Given the description of an element on the screen output the (x, y) to click on. 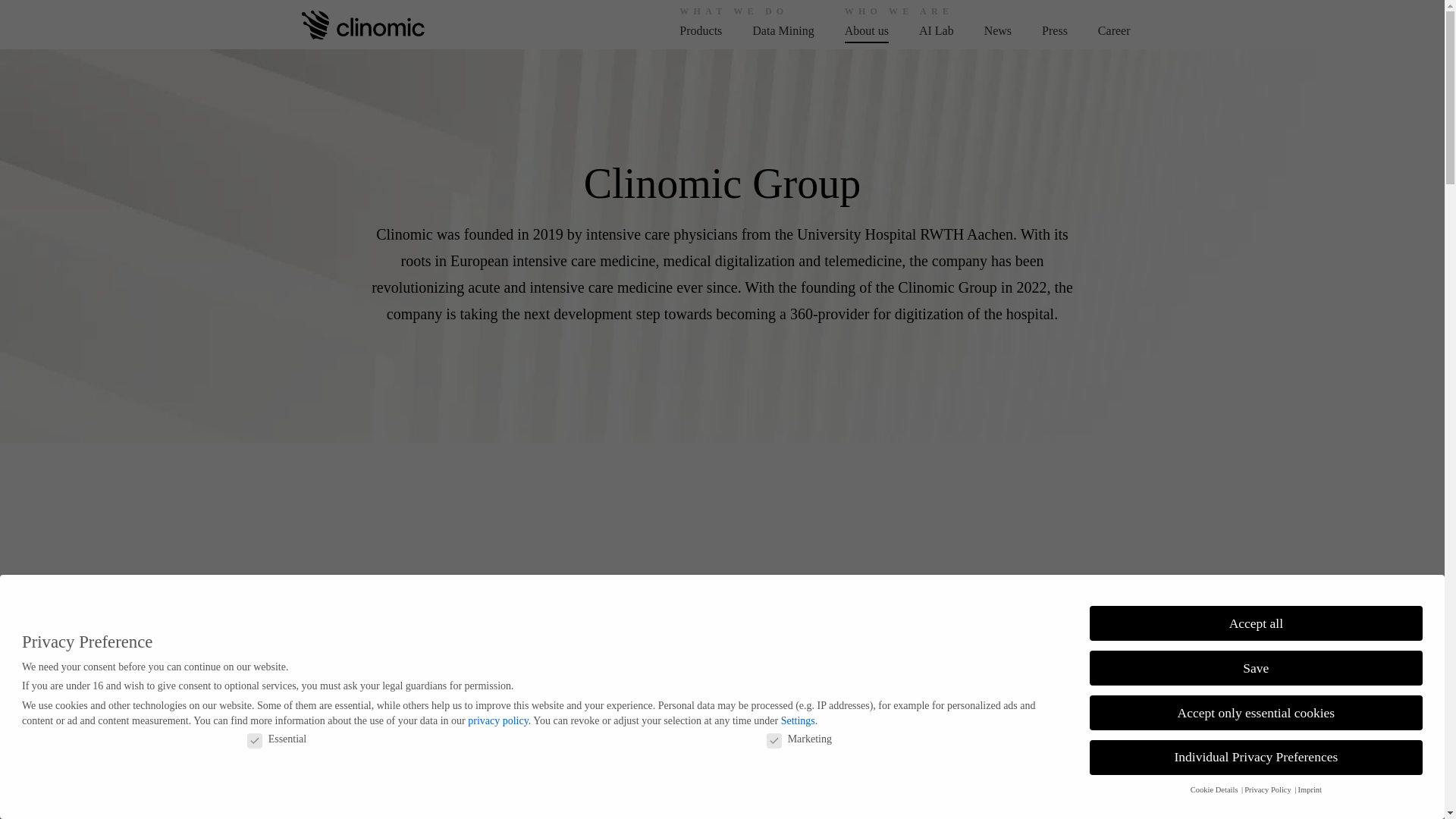
Privacy Policy (1268, 788)
Accept all (1255, 614)
AI Lab (935, 29)
What we do (700, 29)
Accept only essential cookies (1255, 708)
News (997, 29)
News (997, 29)
Career (1114, 29)
Career (1114, 29)
Data Mining (782, 29)
privacy policy (497, 706)
Save (1255, 660)
Individual Privacy Preferences (1255, 753)
Data Mining (782, 29)
Products (700, 29)
